Given the description of an element on the screen output the (x, y) to click on. 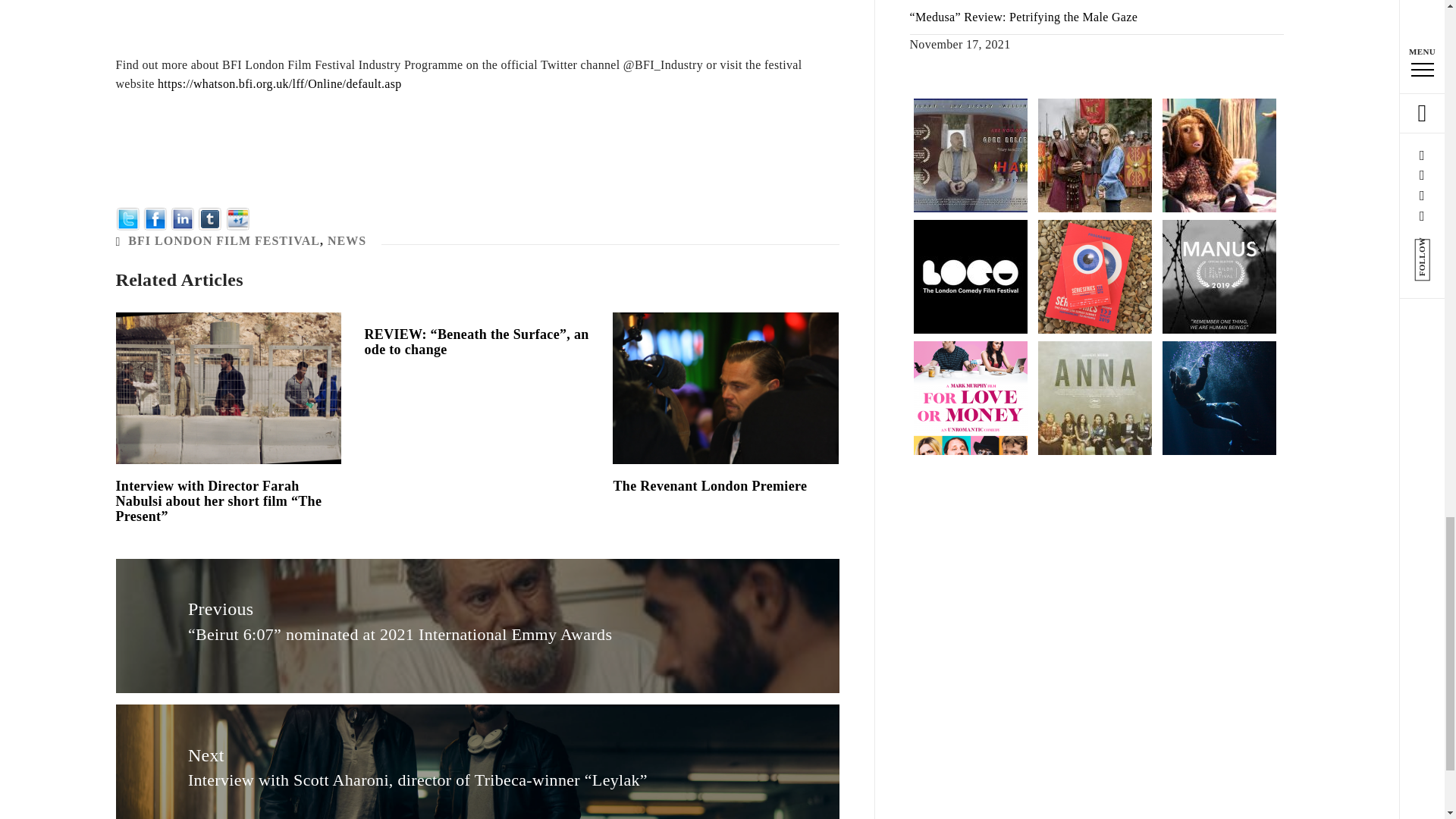
Tumblr (210, 216)
Facebook (154, 216)
NEWS (346, 240)
The Revenant London Premiere (709, 485)
Linkedin (182, 216)
Plusone (237, 216)
BFI LONDON FILM FESTIVAL (224, 240)
Twitter (127, 216)
